Given the description of an element on the screen output the (x, y) to click on. 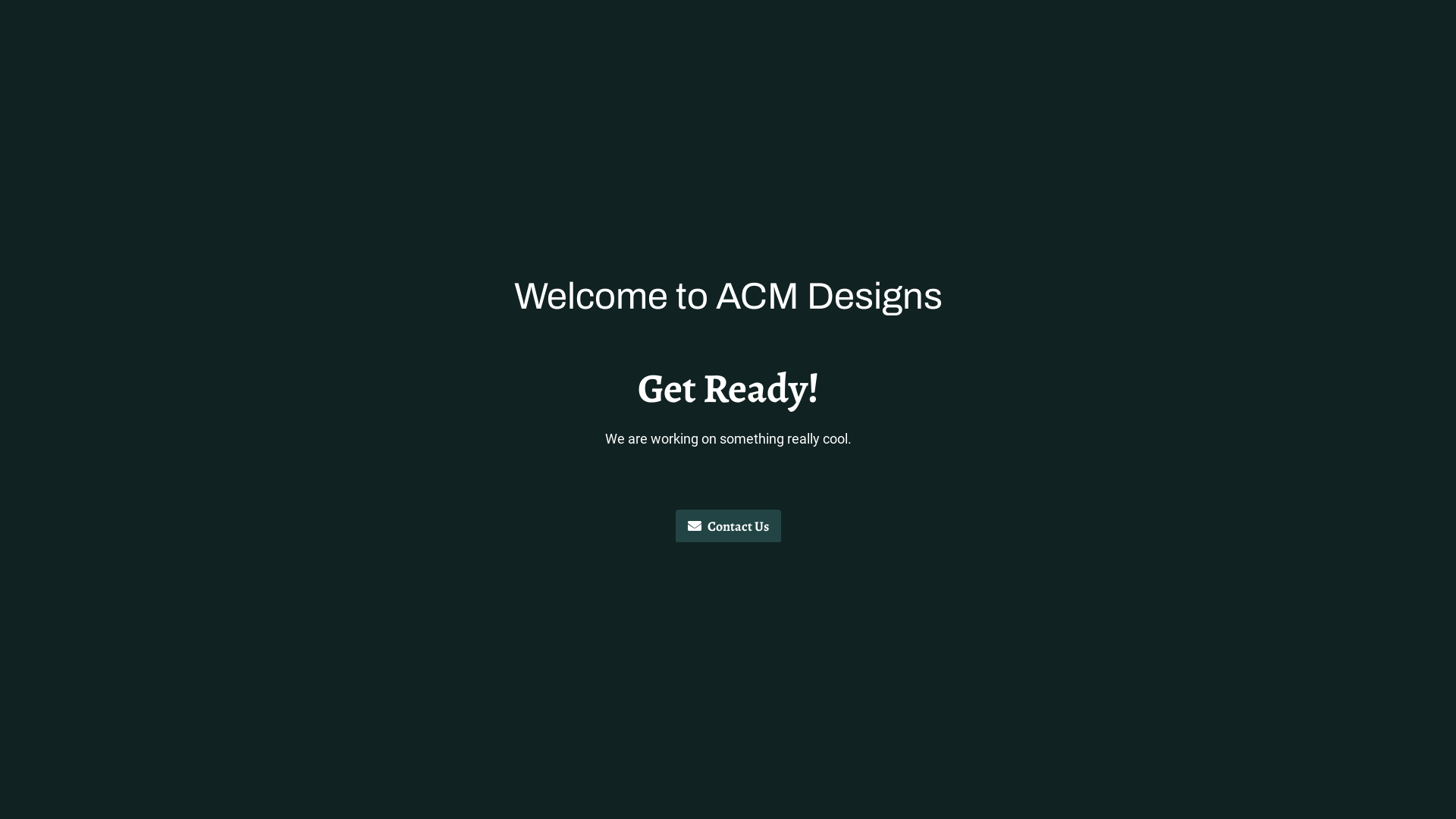
Contact Us Element type: text (727, 526)
